Given the description of an element on the screen output the (x, y) to click on. 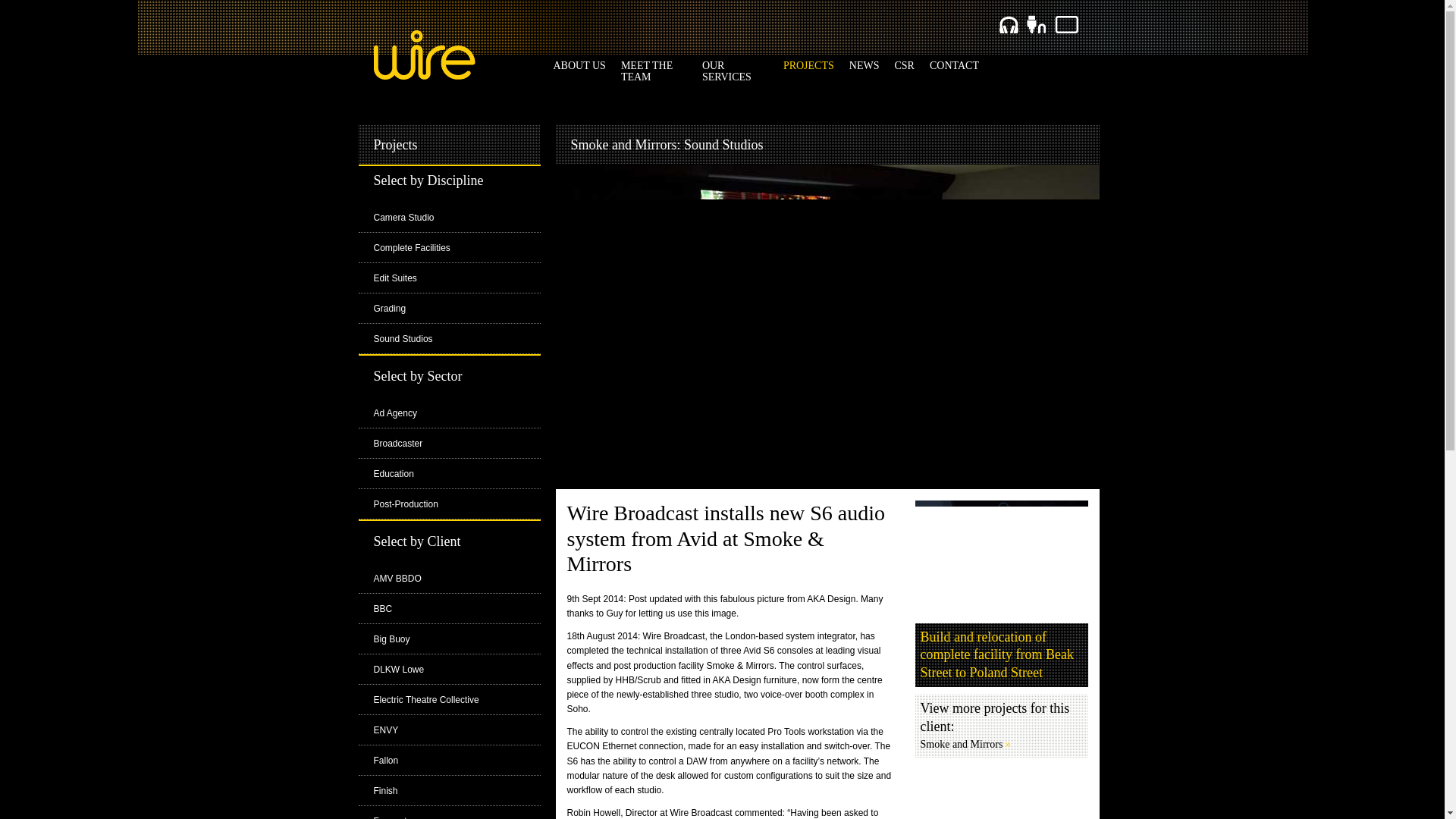
Electric Theatre Collective (425, 699)
Projects for Envy (384, 729)
Sound Studios (402, 338)
Ad Agency (394, 412)
ABOUT US (579, 65)
Camera Studio (402, 217)
Fallon (384, 760)
Grading (389, 308)
Finish (384, 790)
CONTACT (954, 65)
